Given the description of an element on the screen output the (x, y) to click on. 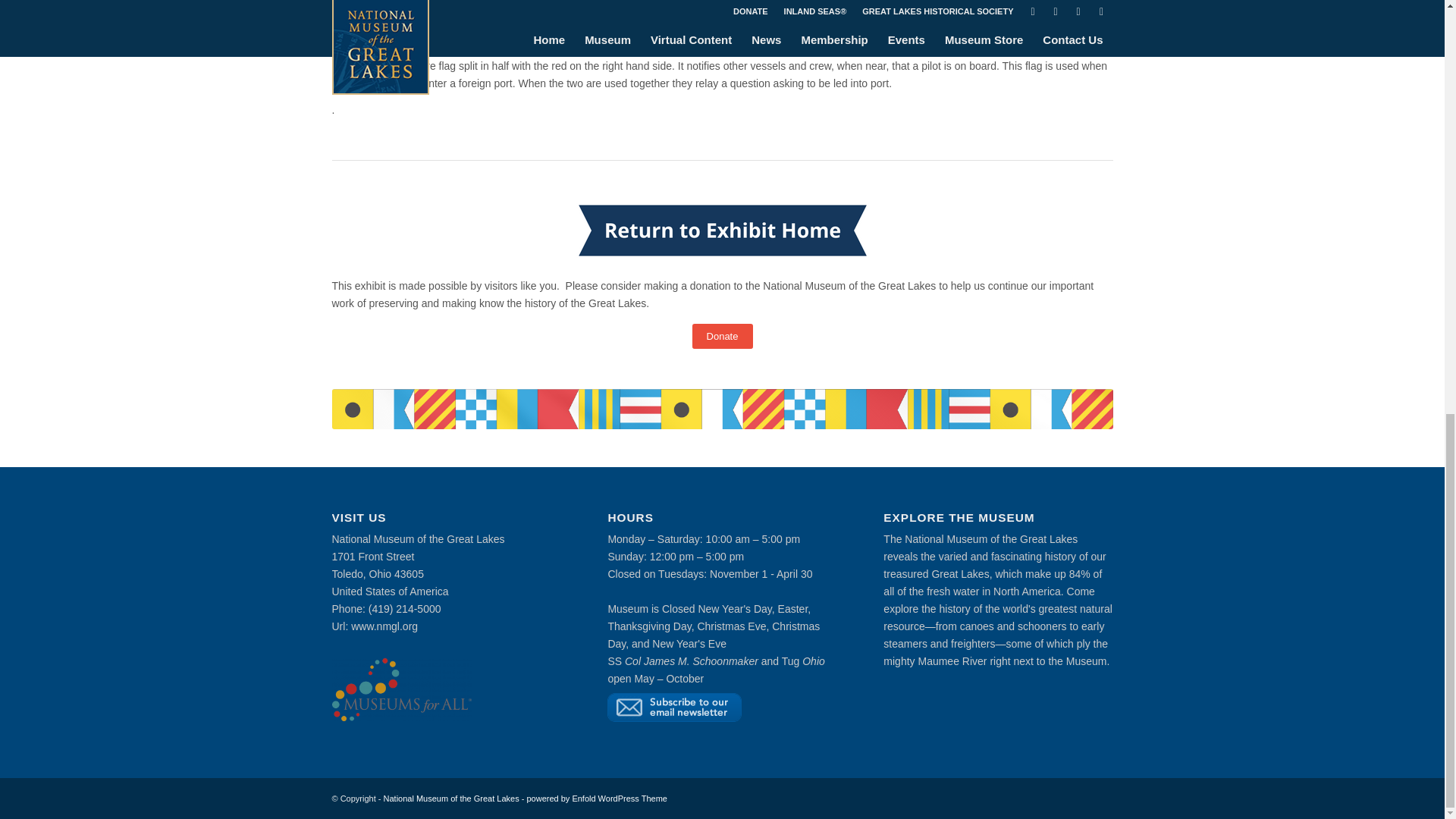
Lower Banner (722, 409)
Return to Exhibit Home (721, 230)
